Given the description of an element on the screen output the (x, y) to click on. 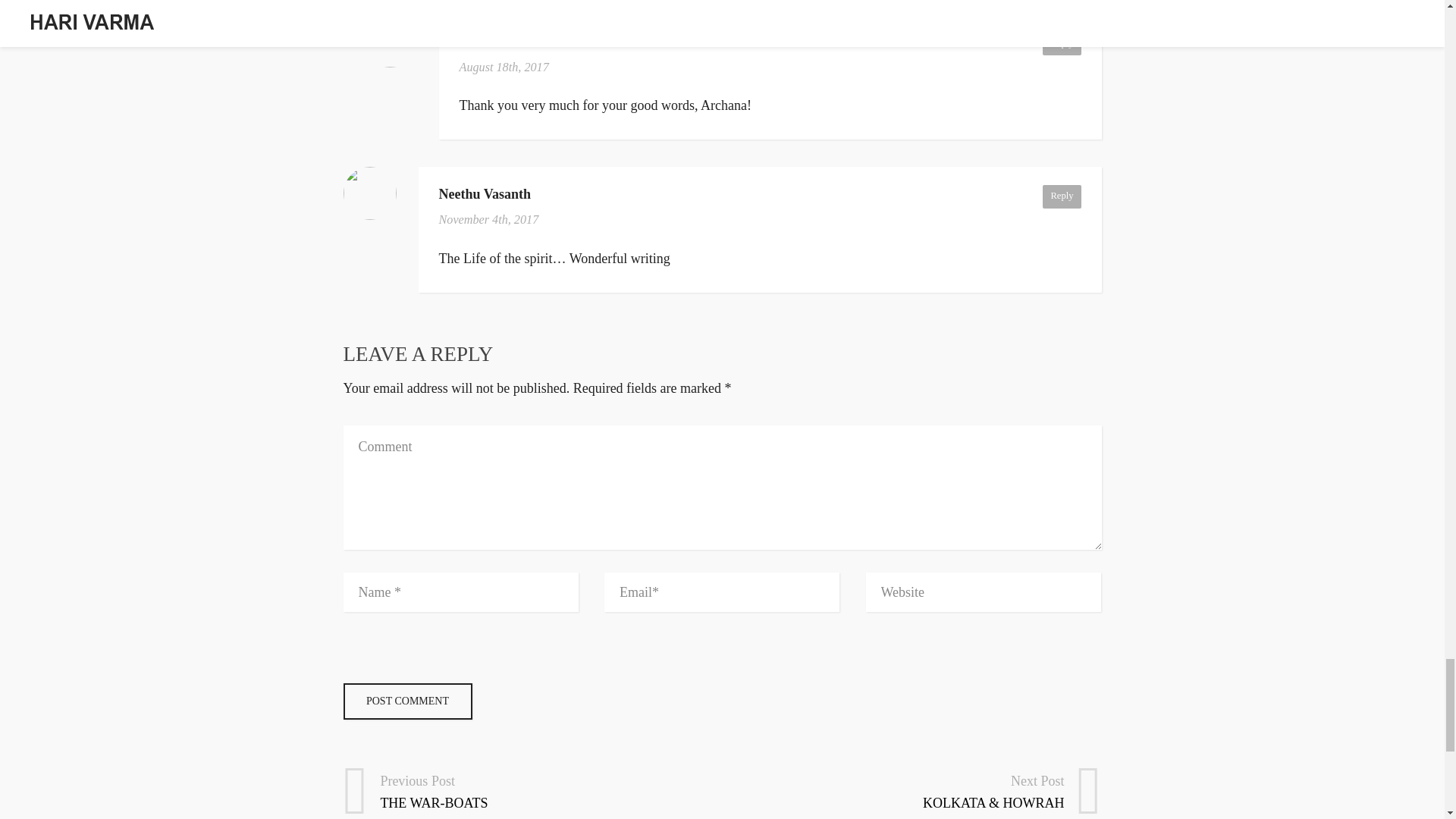
Reply (1061, 43)
Post Comment (406, 701)
Reply (526, 785)
Post Comment (1061, 196)
Hari Varma (406, 701)
